Given the description of an element on the screen output the (x, y) to click on. 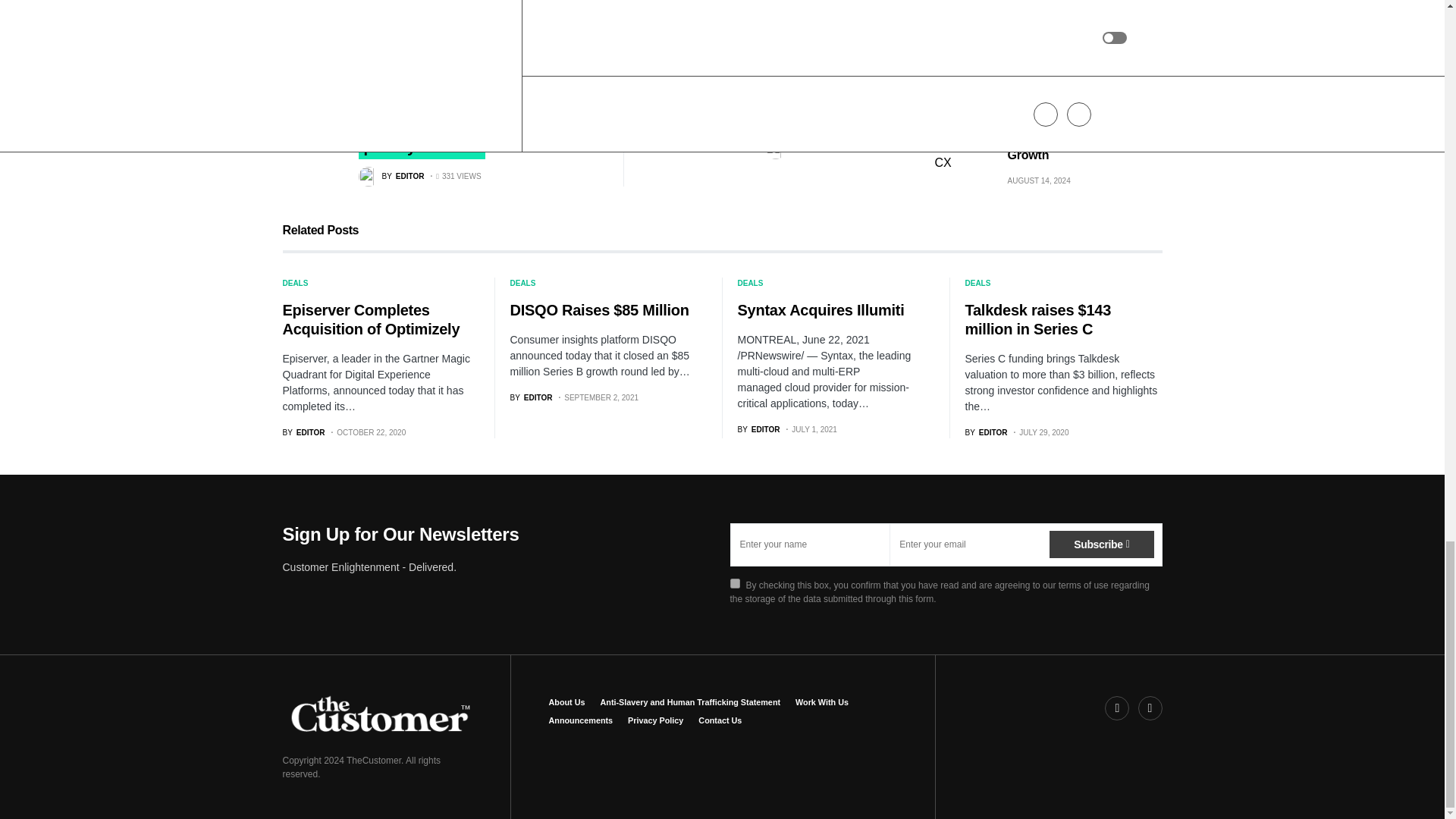
View all posts by Editor (798, 148)
View all posts by Editor (985, 432)
View all posts by Editor (303, 432)
on (734, 583)
View all posts by Editor (530, 397)
View all posts by Editor (757, 429)
View all posts by Editor (390, 176)
